Given the description of an element on the screen output the (x, y) to click on. 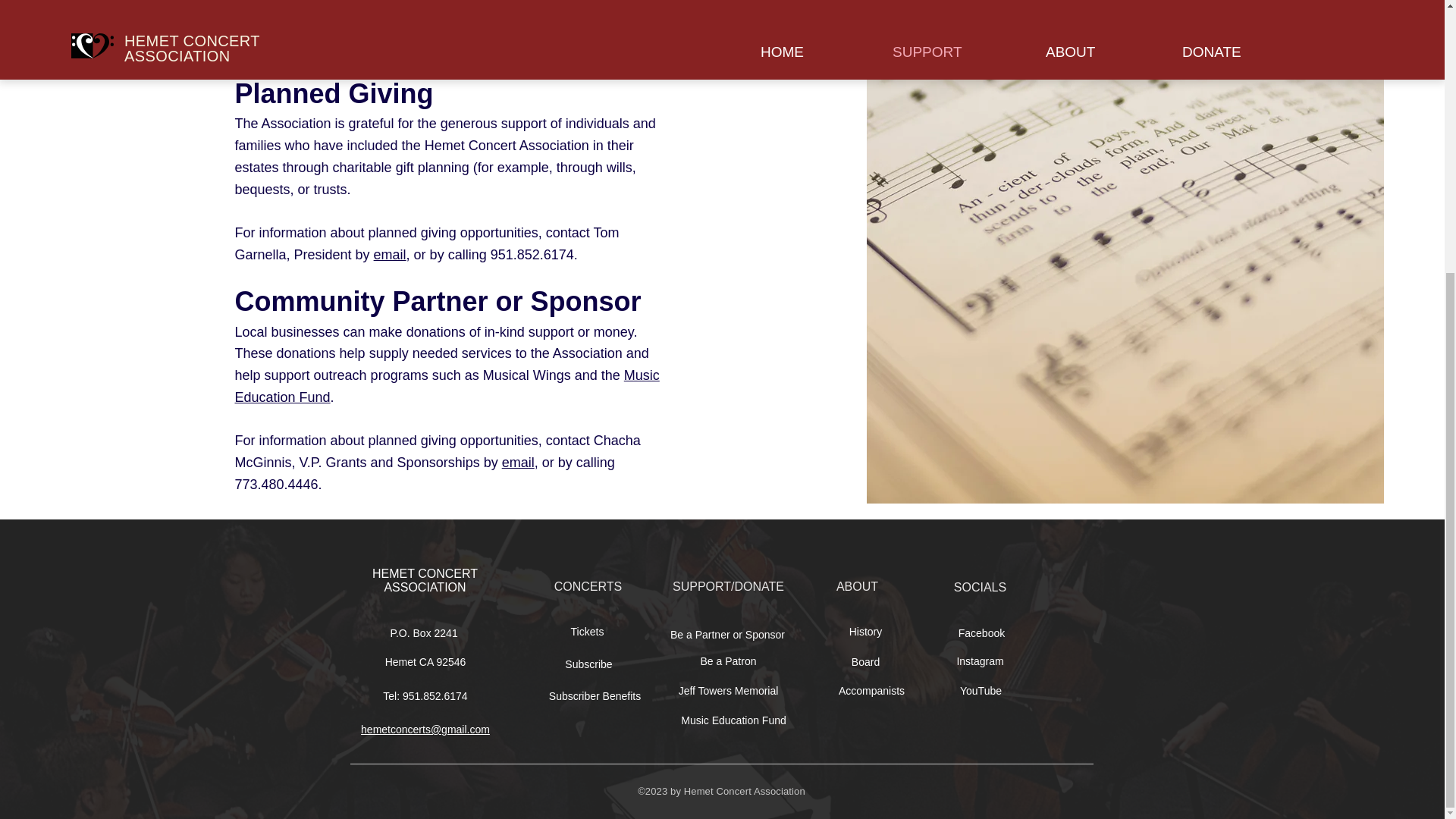
email (390, 254)
Music Education Fund (446, 385)
Board (864, 662)
Jeff Towers Memorial (729, 691)
Tickets (588, 632)
Be a Partner or Sponsor (727, 635)
Be a Patron (729, 661)
Music Education Fund (734, 720)
email (518, 462)
History (864, 632)
HEMET CONCERT ASSOCIATION (424, 580)
Facebook (981, 633)
Subscriber Benefits (595, 696)
Accompanists (870, 691)
YouTube (979, 691)
